Given the description of an element on the screen output the (x, y) to click on. 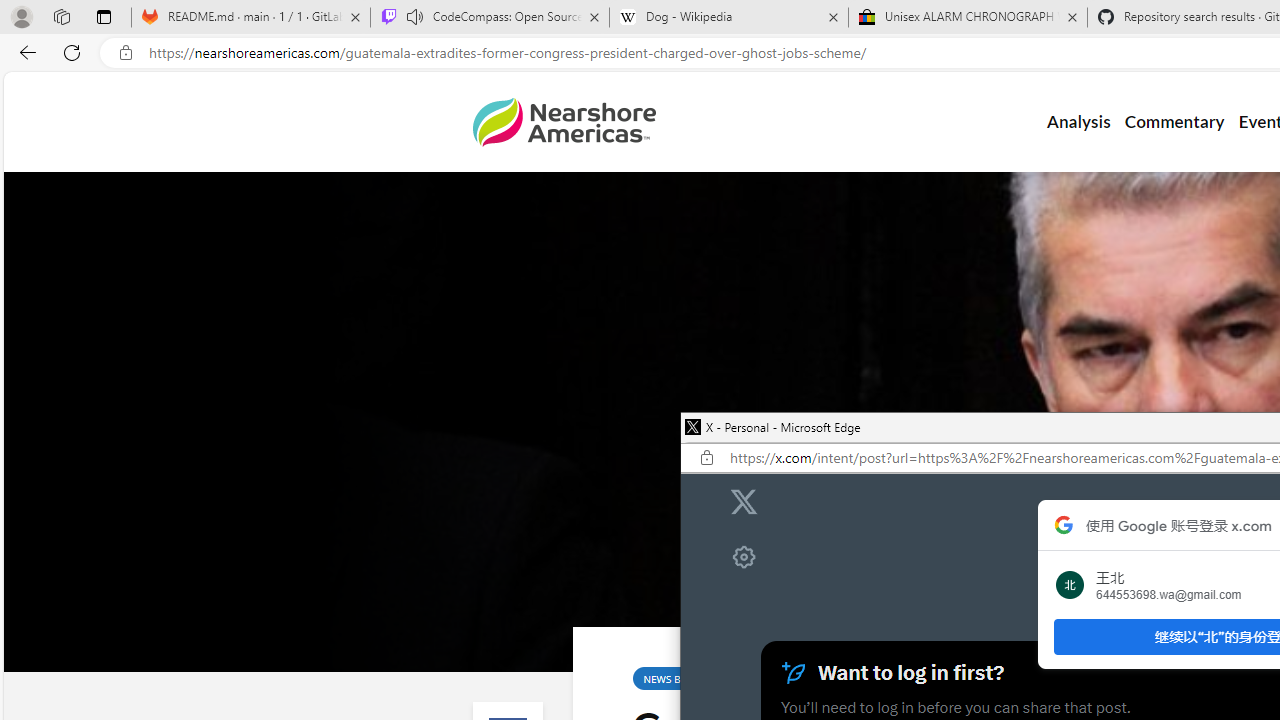
Commentary (1174, 121)
Mute tab (414, 16)
Commentary (1174, 121)
Nearshore Americas (563, 121)
Analysis (1078, 121)
Nearshore Americas (563, 121)
Dog - Wikipedia (729, 17)
